Given the description of an element on the screen output the (x, y) to click on. 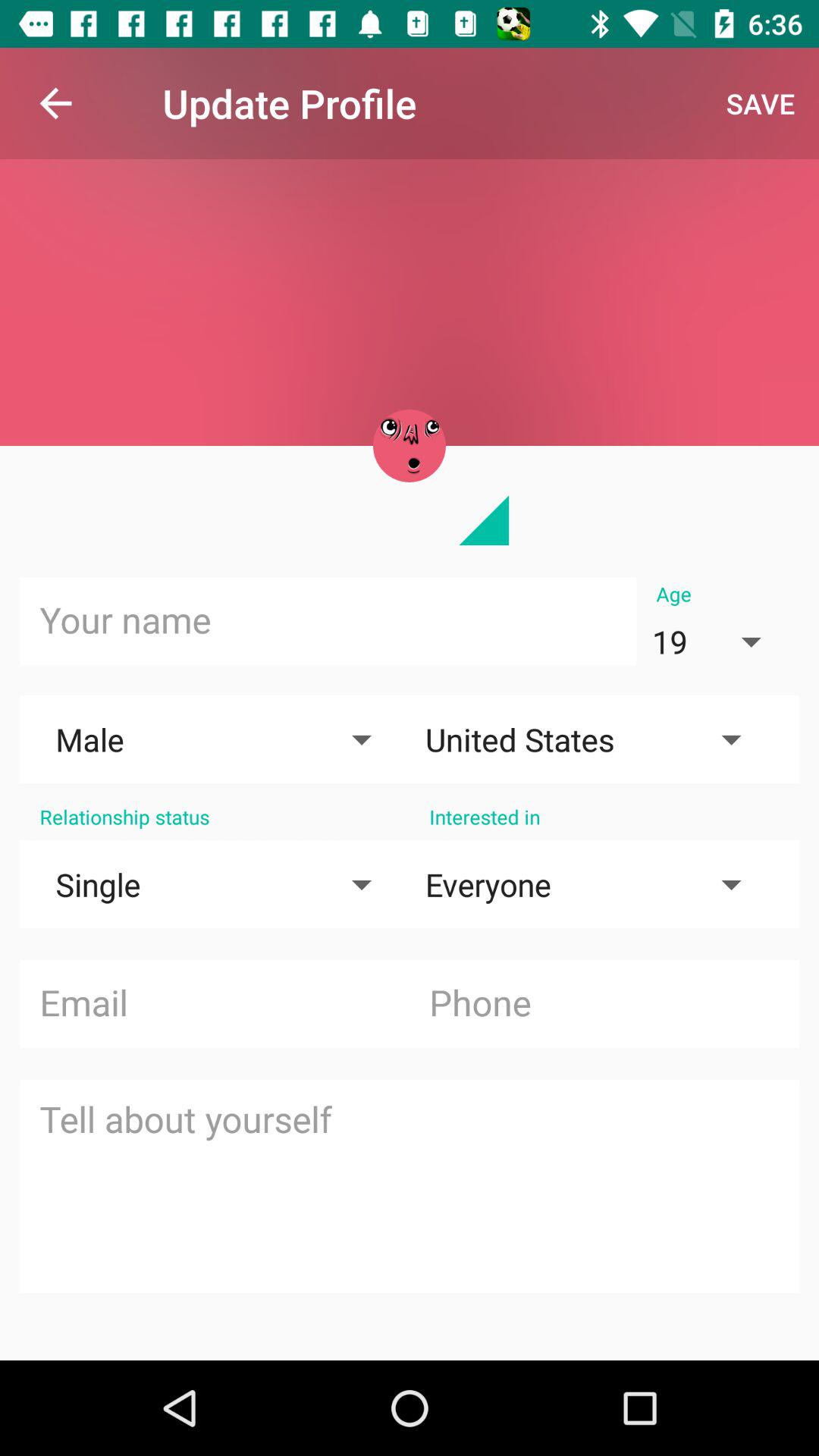
enter your name (327, 621)
